Given the description of an element on the screen output the (x, y) to click on. 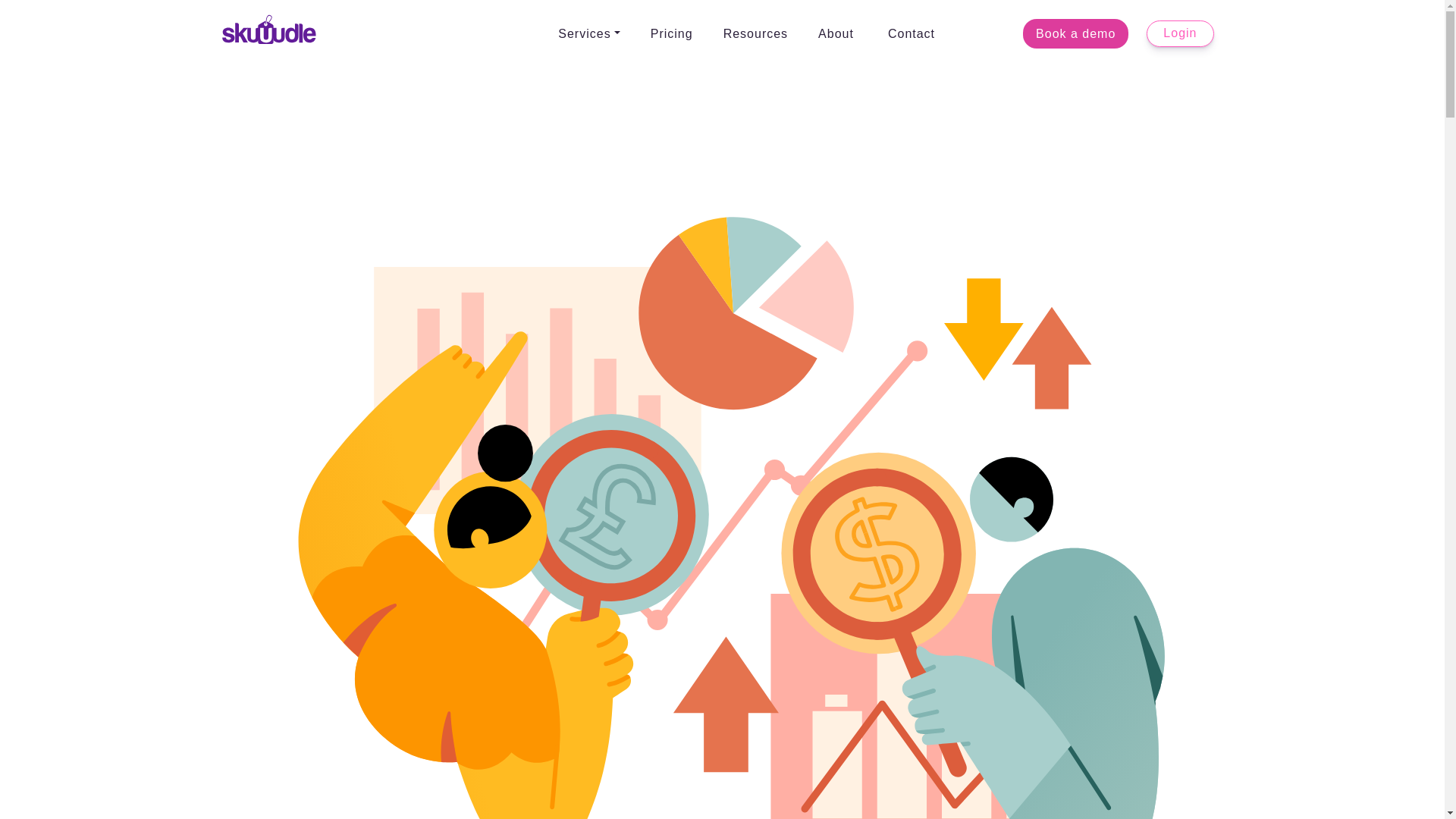
Book a demo (1075, 33)
Contact (911, 33)
Services (588, 33)
Login (1179, 33)
About (836, 33)
Pricing (670, 33)
Resources (755, 33)
